Given the description of an element on the screen output the (x, y) to click on. 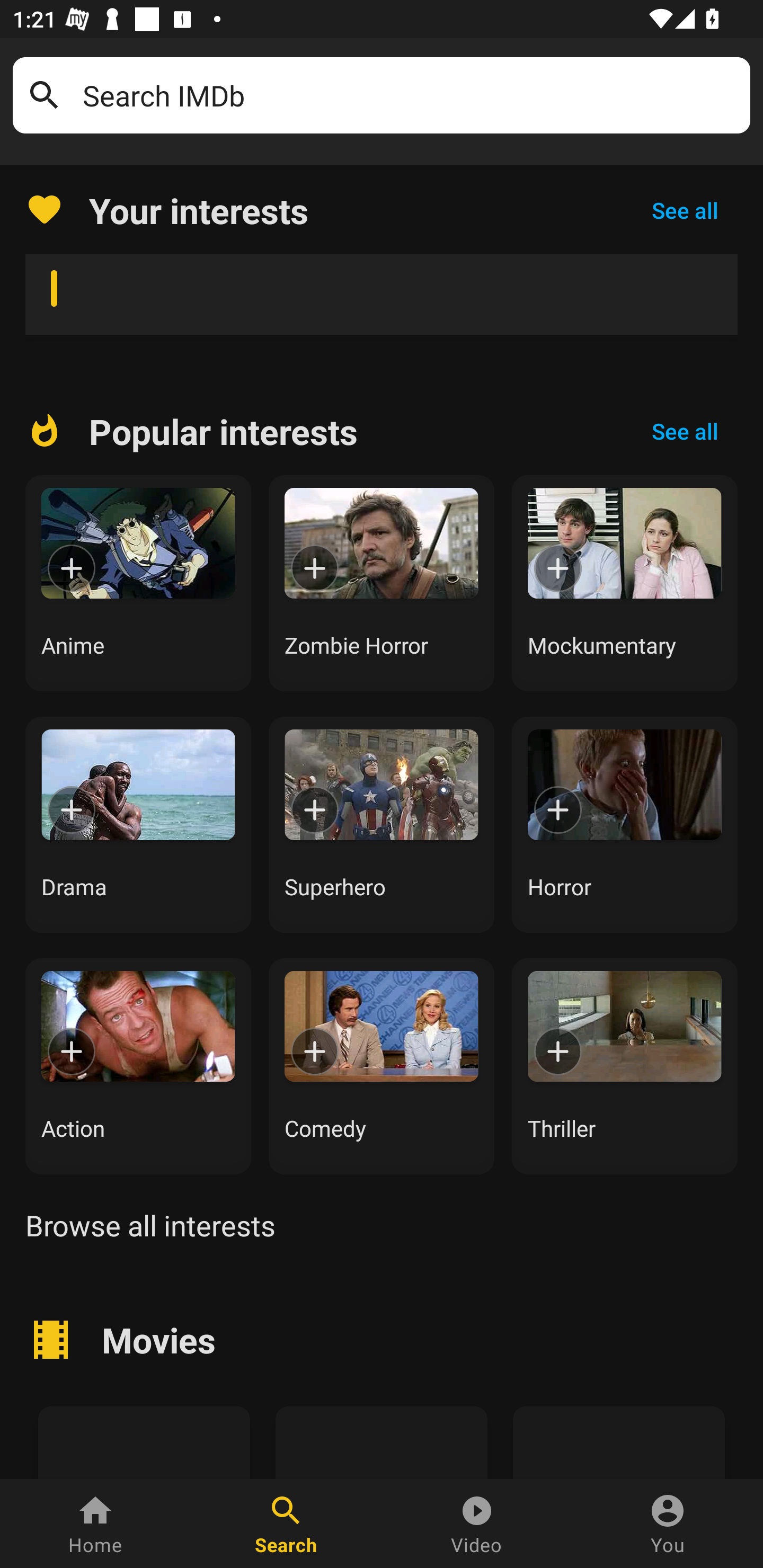
Search IMDb (410, 95)
See all (684, 209)
See all (684, 430)
Anime (138, 583)
Zombie Horror (381, 583)
Mockumentary (624, 583)
Drama (138, 824)
Superhero (381, 824)
Horror (624, 824)
Action (138, 1065)
Comedy (381, 1065)
Thriller (624, 1065)
Browse all interests (150, 1224)
Home (95, 1523)
Video (476, 1523)
You (667, 1523)
